Given the description of an element on the screen output the (x, y) to click on. 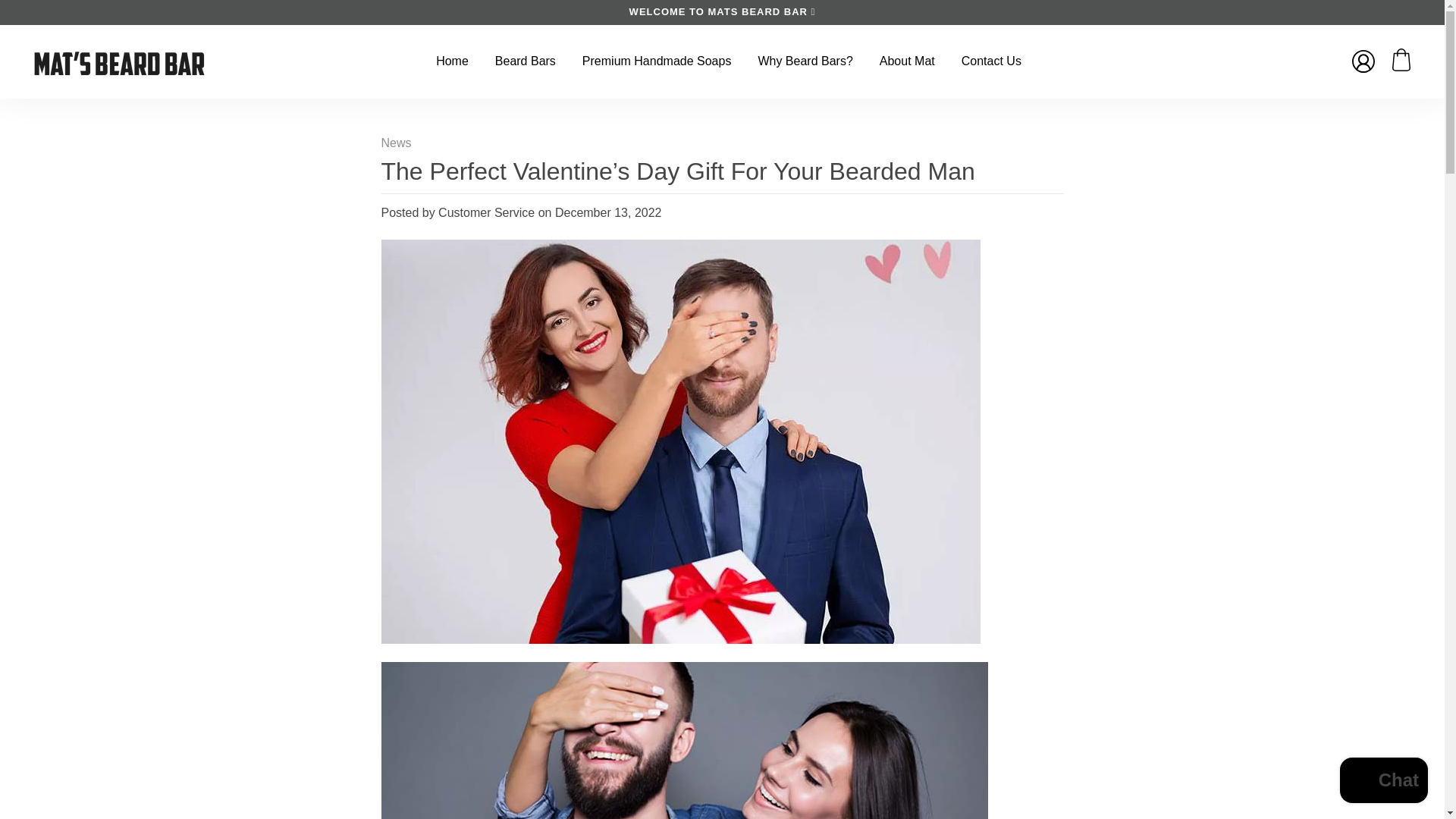
Why Beard Bars? (804, 61)
Beard Bars (525, 61)
About Mat (907, 61)
News (395, 142)
Shopify online store chat (1383, 781)
Contact Us (991, 61)
Premium Handmade Soaps (657, 61)
